Given the description of an element on the screen output the (x, y) to click on. 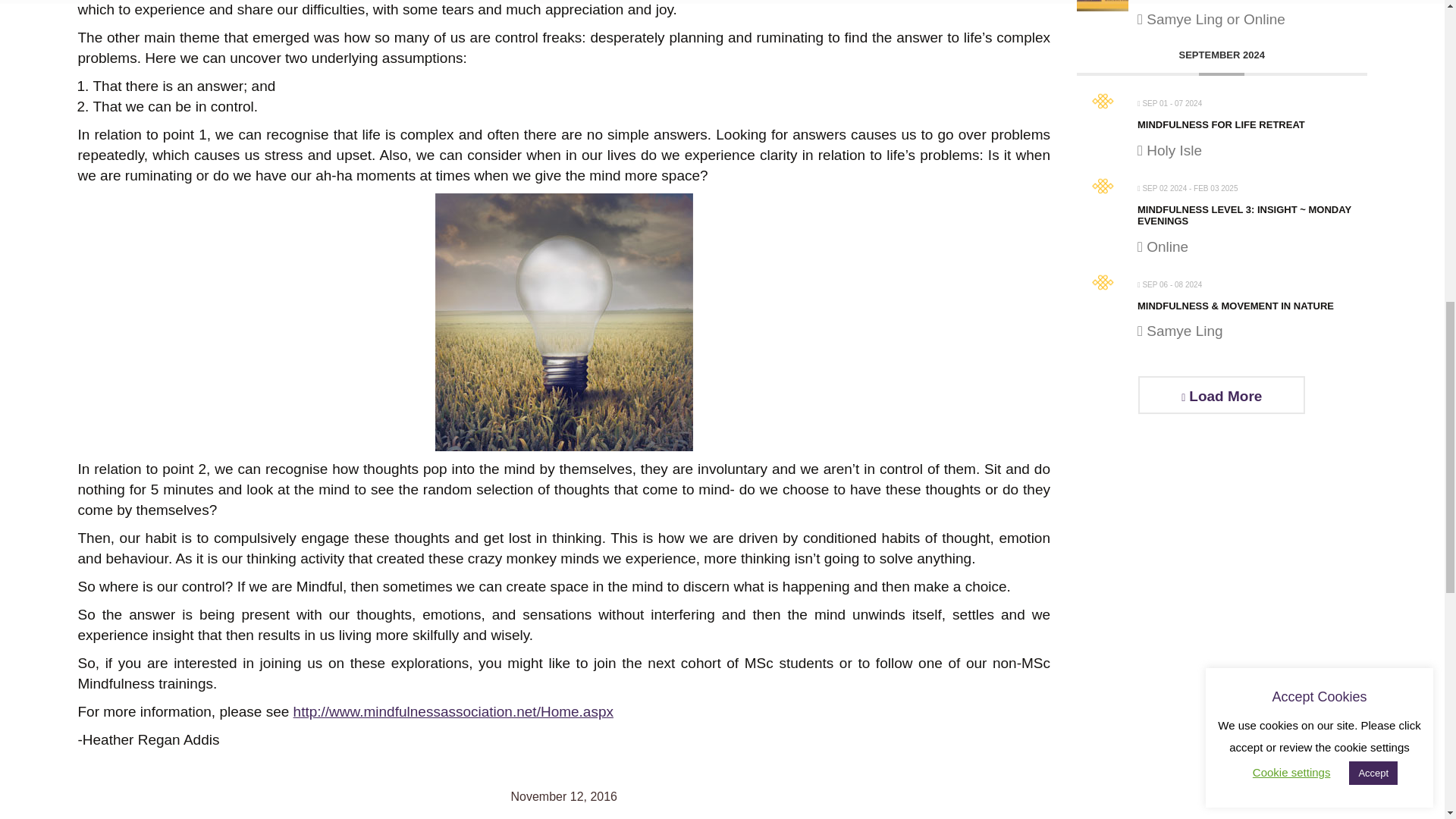
5:16 pm (564, 796)
